Given the description of an element on the screen output the (x, y) to click on. 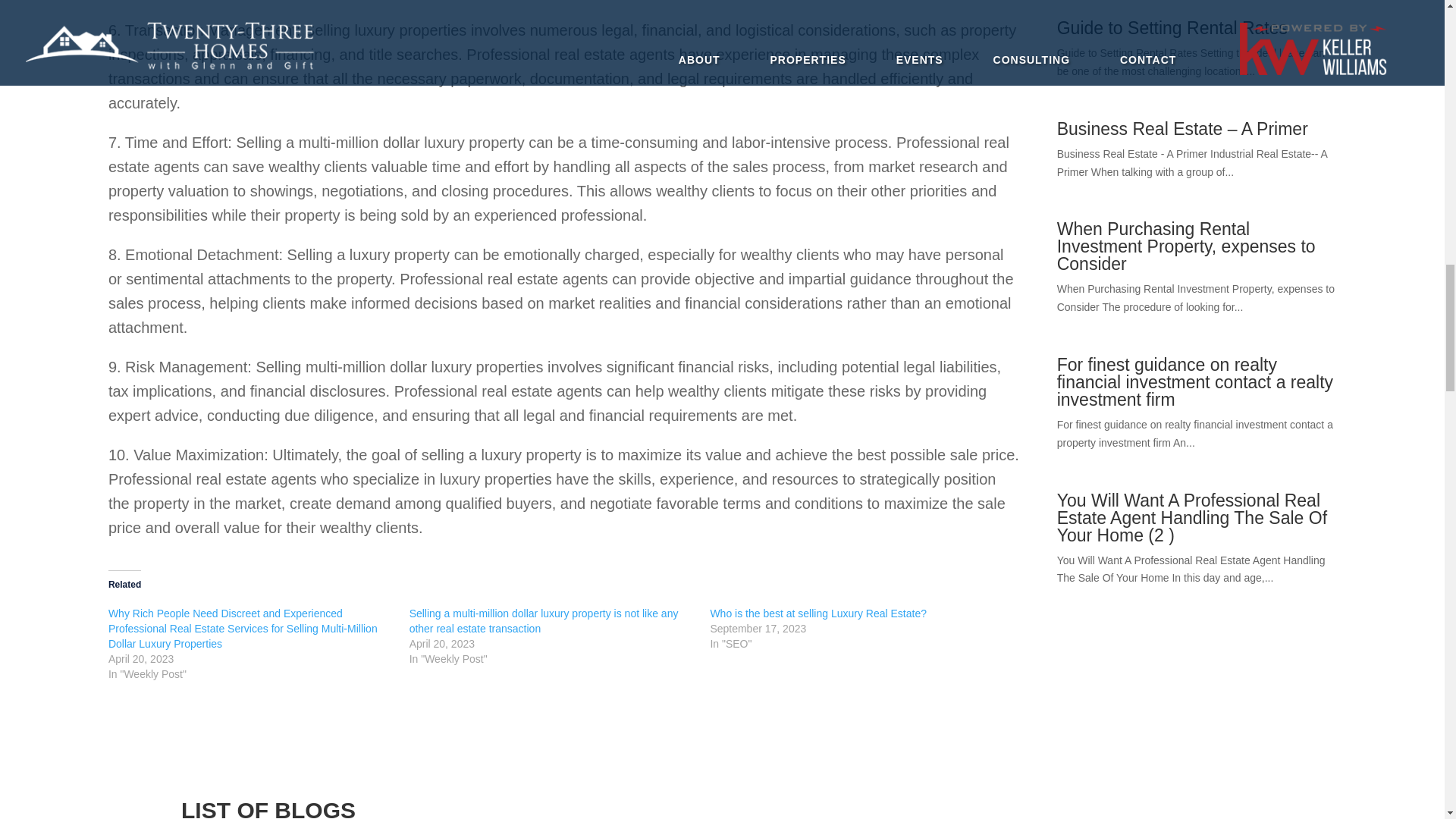
Who is the best at selling Luxury Real Estate? (818, 613)
